Given the description of an element on the screen output the (x, y) to click on. 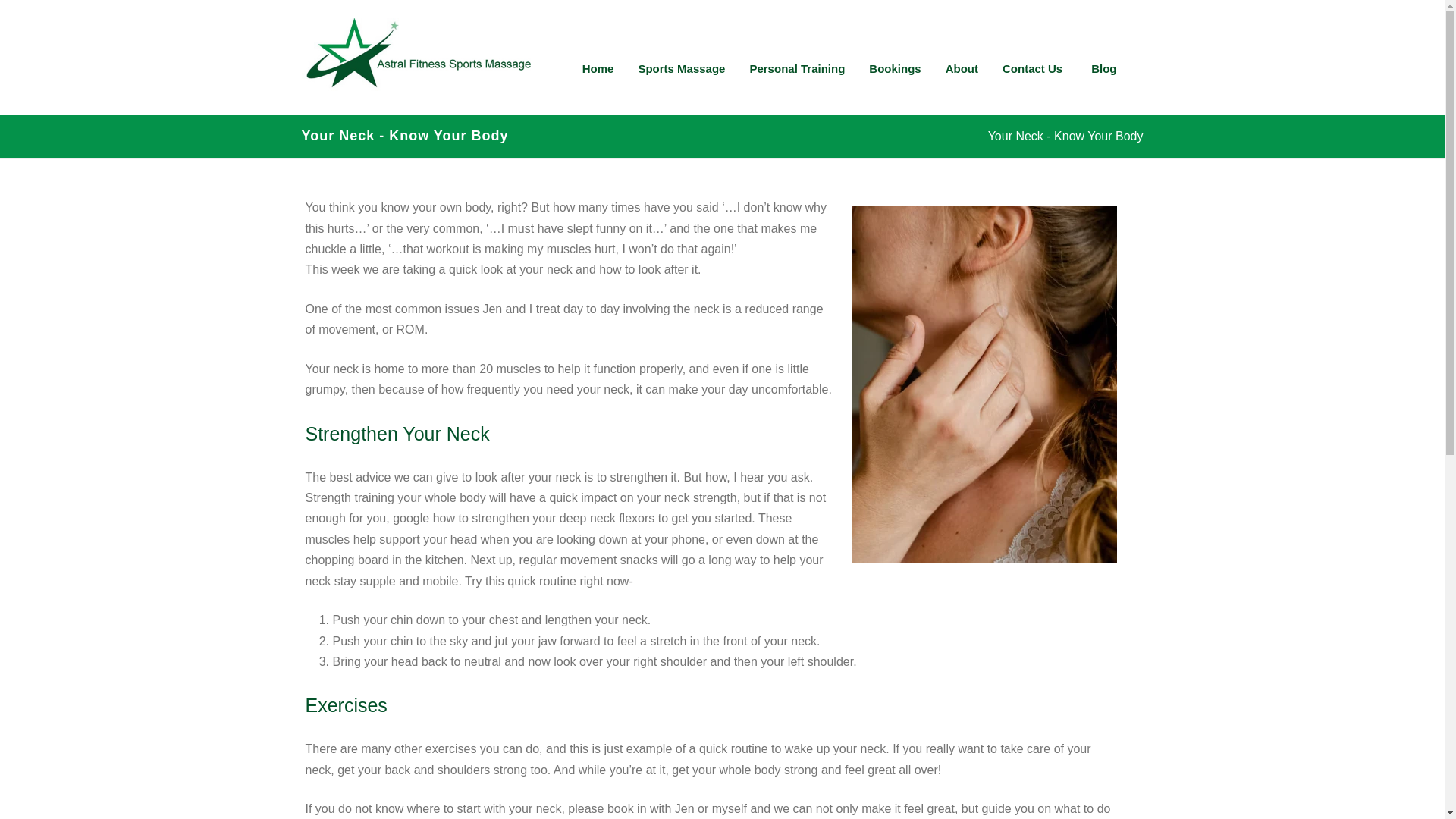
Bookings (894, 68)
Blog (1106, 68)
Astral Fitness (416, 107)
About (962, 68)
Sports Massage (681, 68)
Home (598, 68)
Personal Training (797, 68)
Contact Us (1034, 68)
